Given the description of an element on the screen output the (x, y) to click on. 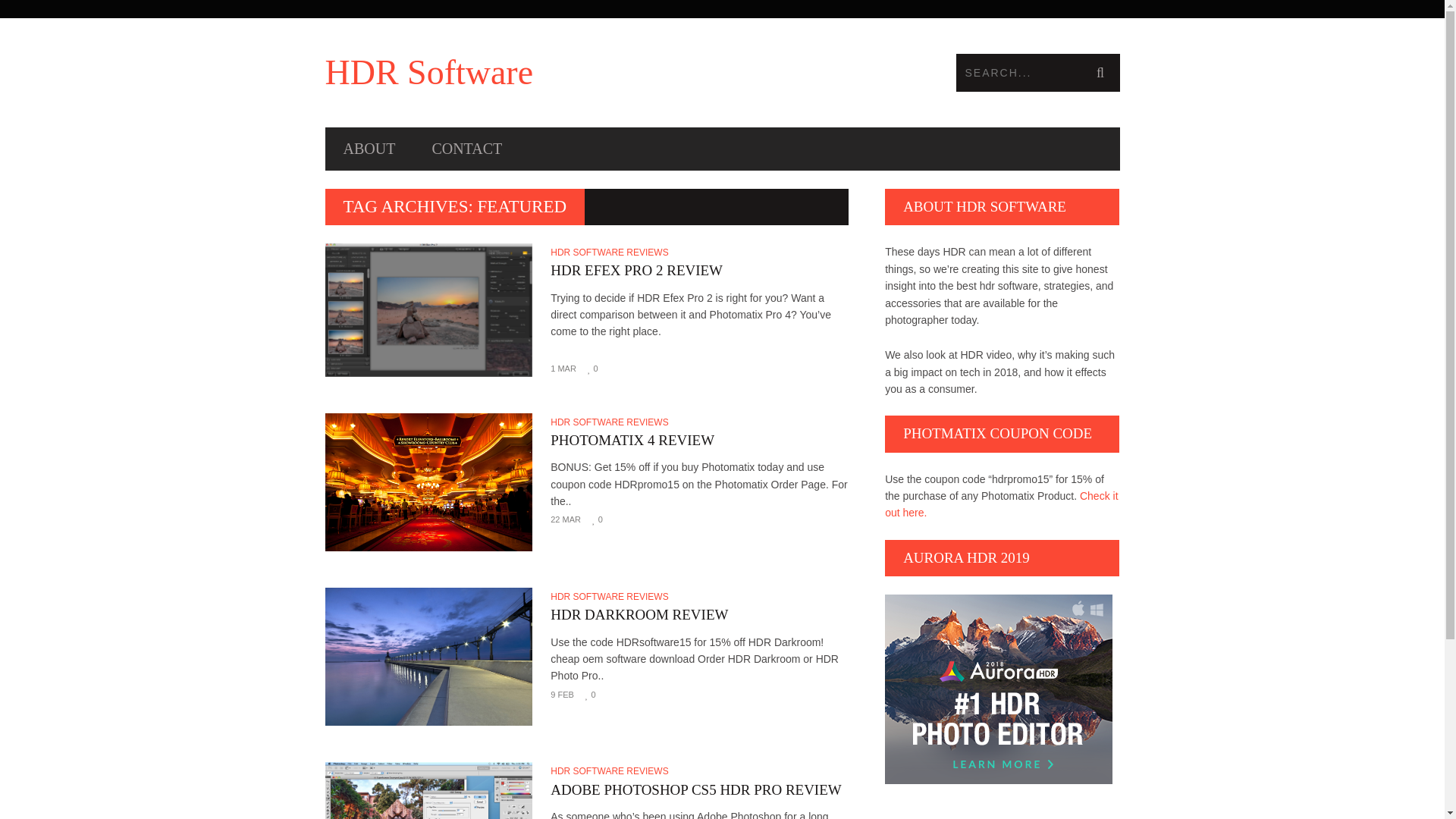
HDR SOFTWARE REVIEWS (611, 421)
HDR Software (523, 72)
HDR EFEX PRO 2 REVIEW (699, 270)
View all posts in HDR Software Reviews (611, 770)
View all posts in HDR Software Reviews (611, 421)
ADOBE PHOTOSHOP CS5 HDR PRO REVIEW (699, 790)
ABOUT (368, 148)
HDR SOFTWARE REVIEWS (611, 252)
HDR SOFTWARE REVIEWS (611, 596)
PHOTOMATIX 4 REVIEW (699, 440)
